Given the description of an element on the screen output the (x, y) to click on. 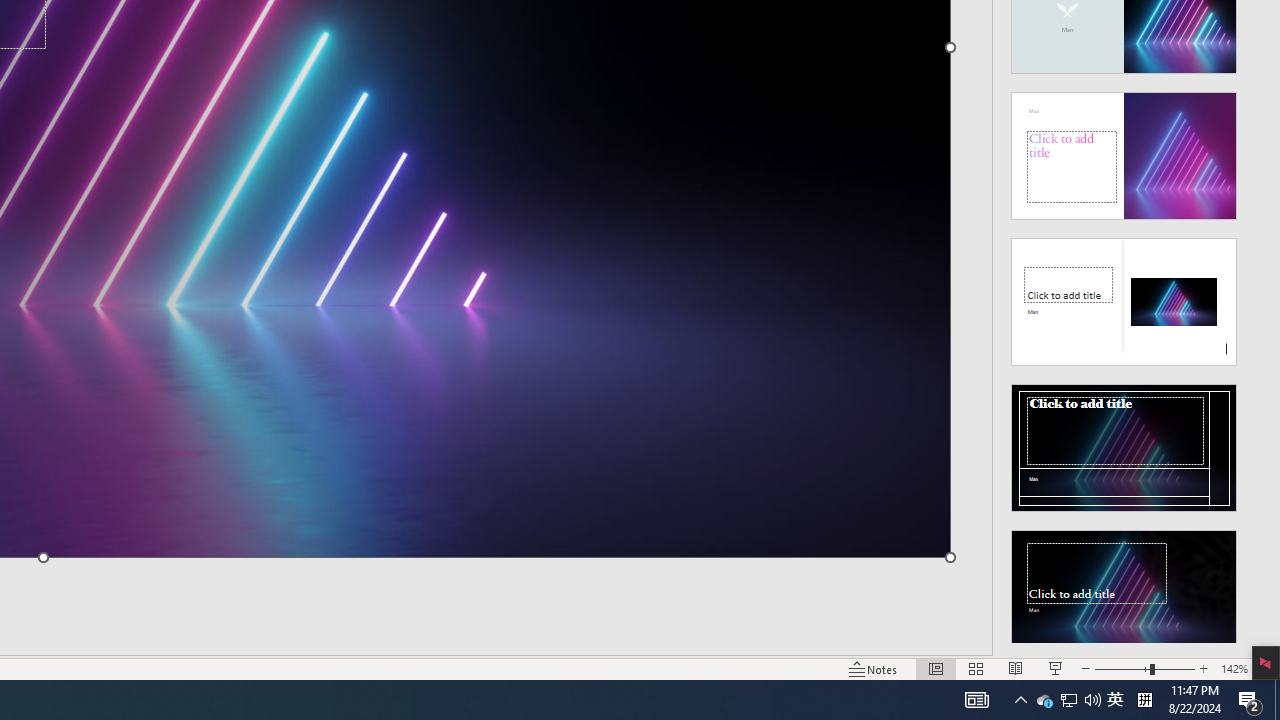
Zoom 142% (1234, 668)
